Given the description of an element on the screen output the (x, y) to click on. 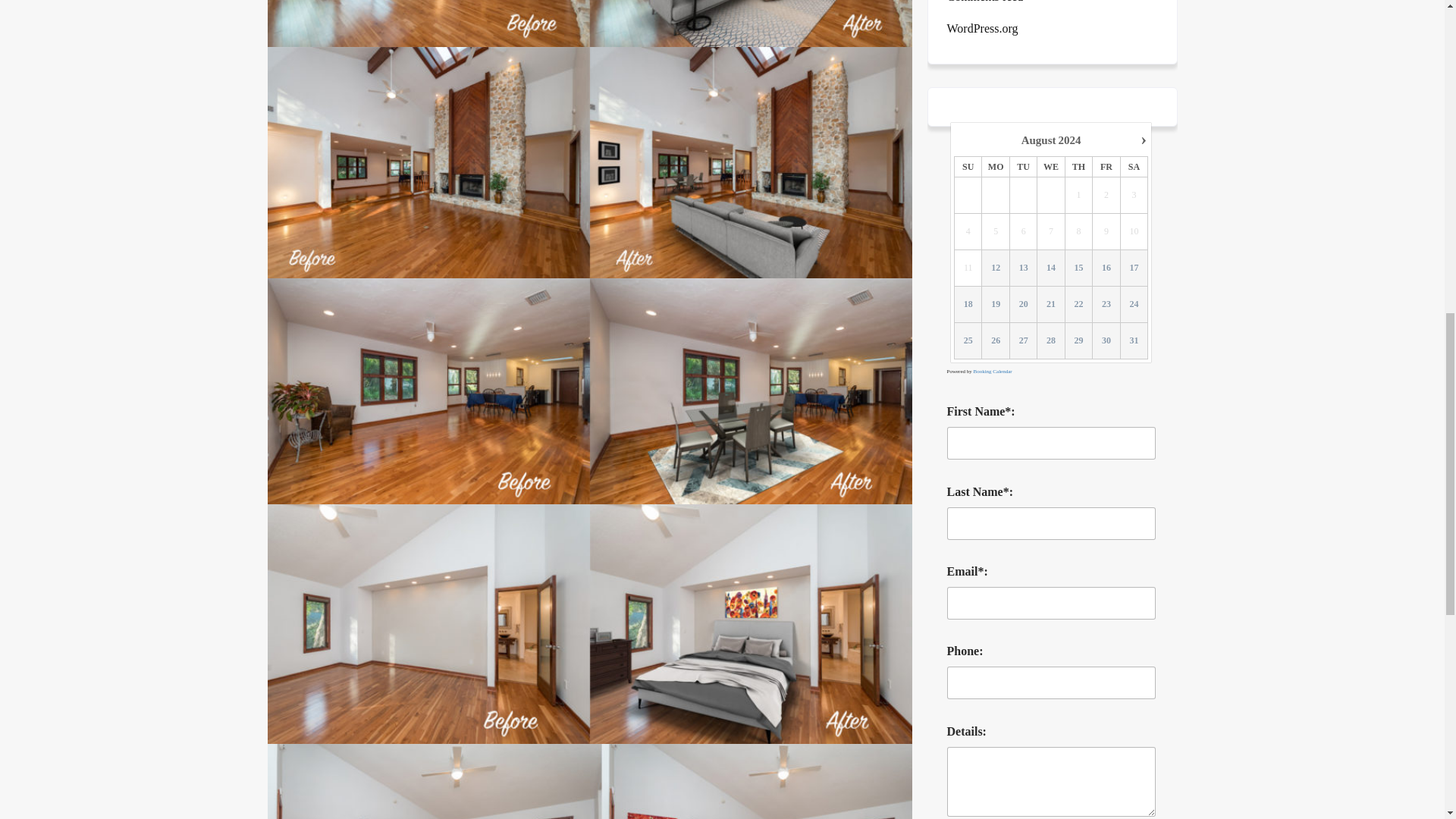
22 (1078, 304)
Comments feed (984, 3)
Friday (1106, 166)
25 (968, 340)
Booking Calendar plugin for WordPress (992, 371)
21 (1050, 304)
Sunday (968, 166)
14 (1050, 267)
13 (1023, 267)
17 (1134, 267)
